Given the description of an element on the screen output the (x, y) to click on. 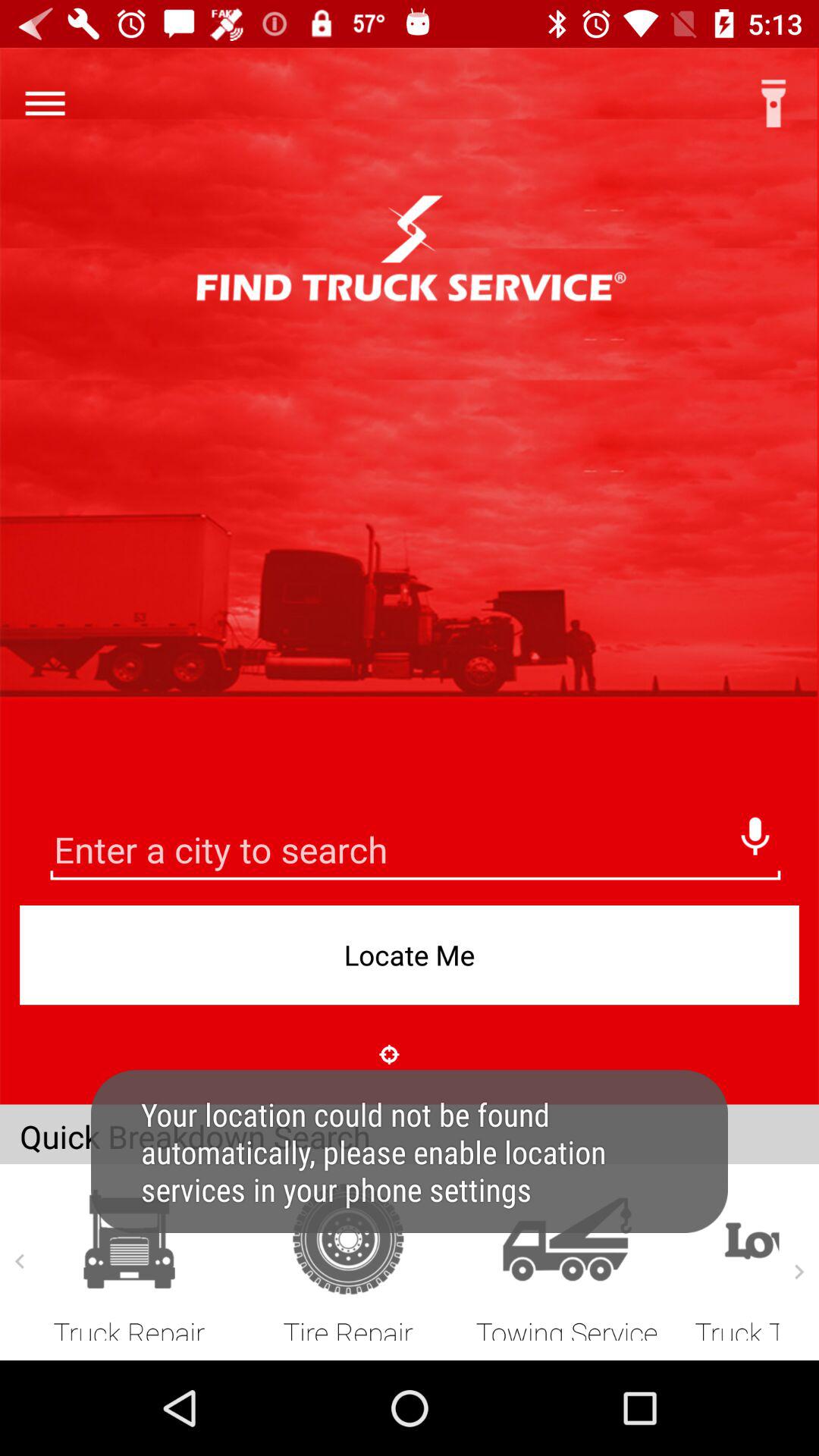
speak the city name (755, 832)
